Given the description of an element on the screen output the (x, y) to click on. 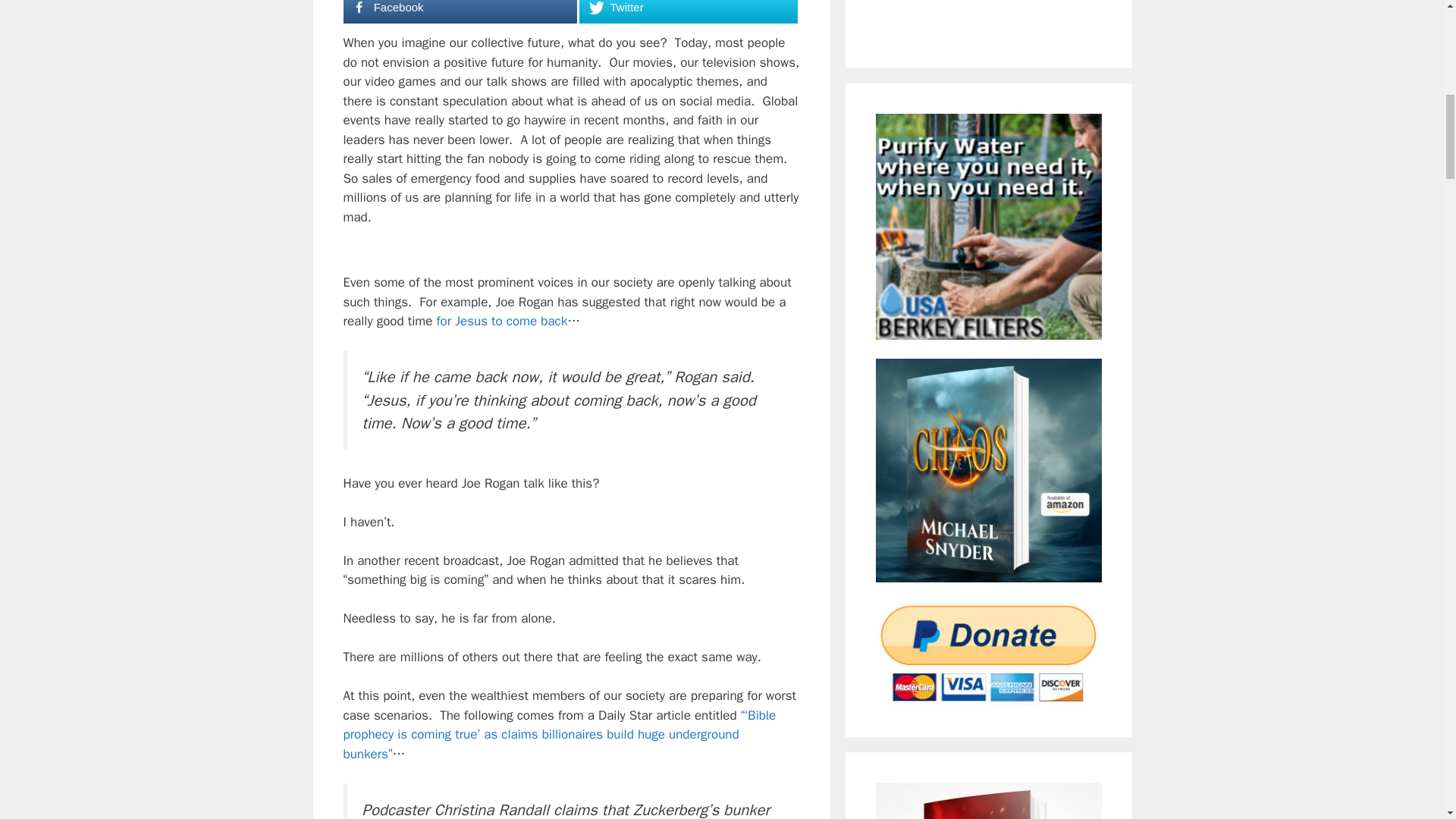
Facebook (459, 11)
Facebook (459, 11)
Twitter (687, 11)
for Jesus to come back (501, 320)
Twitter (687, 11)
for Jesus to come back (501, 320)
